Given the description of an element on the screen output the (x, y) to click on. 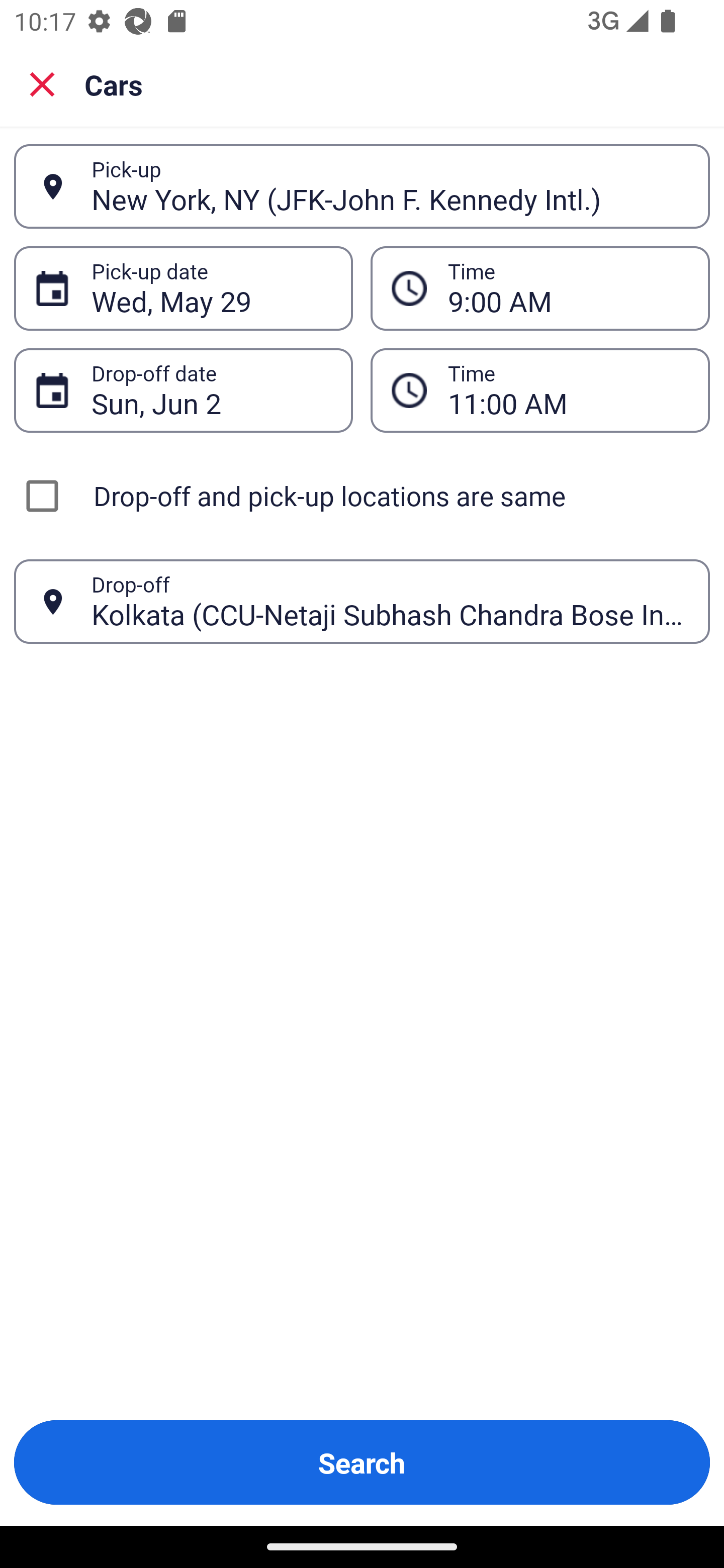
Close search screen (41, 83)
New York, NY (JFK-John F. Kennedy Intl.) Pick-up (361, 186)
New York, NY (JFK-John F. Kennedy Intl.) (389, 186)
Wed, May 29 Pick-up date (183, 288)
9:00 AM (540, 288)
Wed, May 29 (211, 288)
9:00 AM (568, 288)
Sun, Jun 2 Drop-off date (183, 390)
11:00 AM (540, 390)
Sun, Jun 2 (211, 390)
11:00 AM (568, 390)
Drop-off and pick-up locations are same (361, 495)
Kolkata (CCU-Netaji Subhash Chandra Bose Intl.) (389, 601)
Search Button Search (361, 1462)
